Given the description of an element on the screen output the (x, y) to click on. 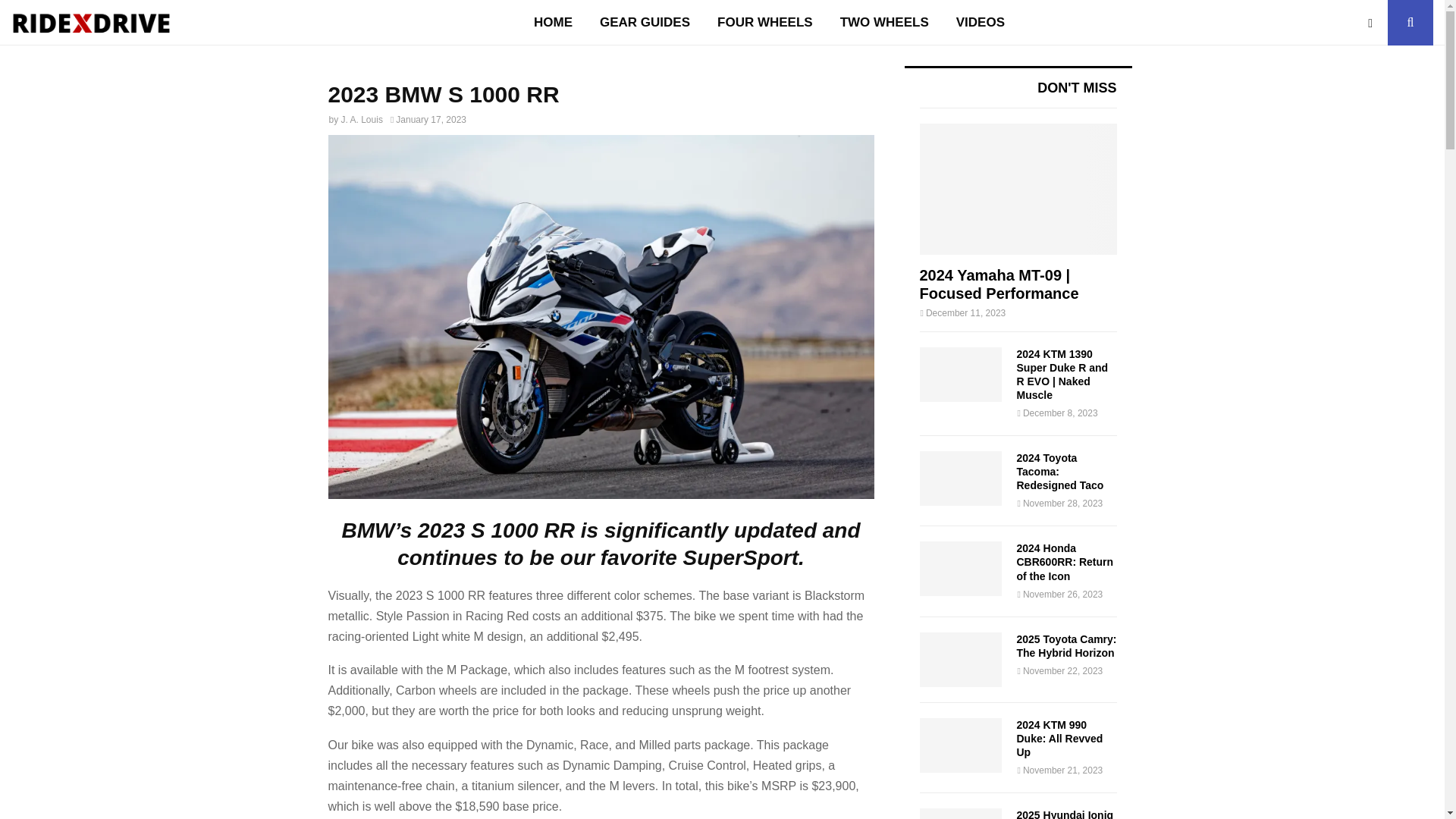
VIDEOS (979, 22)
J. A. Louis (361, 119)
GEAR GUIDES (644, 22)
HOME (552, 22)
FOUR WHEELS (765, 22)
TWO WHEELS (884, 22)
